Given the description of an element on the screen output the (x, y) to click on. 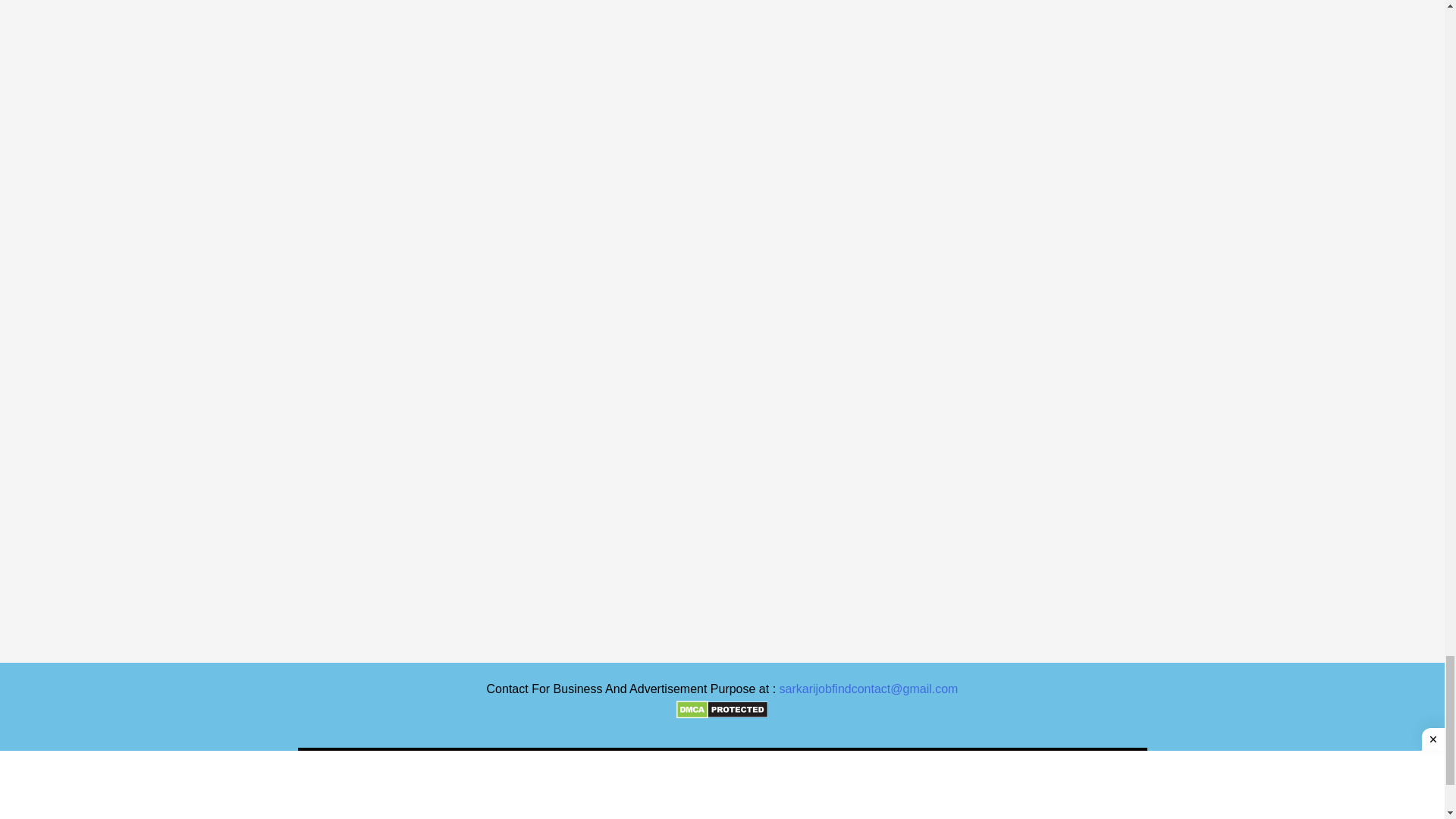
DMCA.com Protection Status (721, 710)
Disclaimer (724, 766)
Advertisement (174, 404)
Advertisement (174, 71)
Privacy Policy (807, 766)
Advertise on Sarkarijobfind (606, 766)
About us (885, 766)
